Given the description of an element on the screen output the (x, y) to click on. 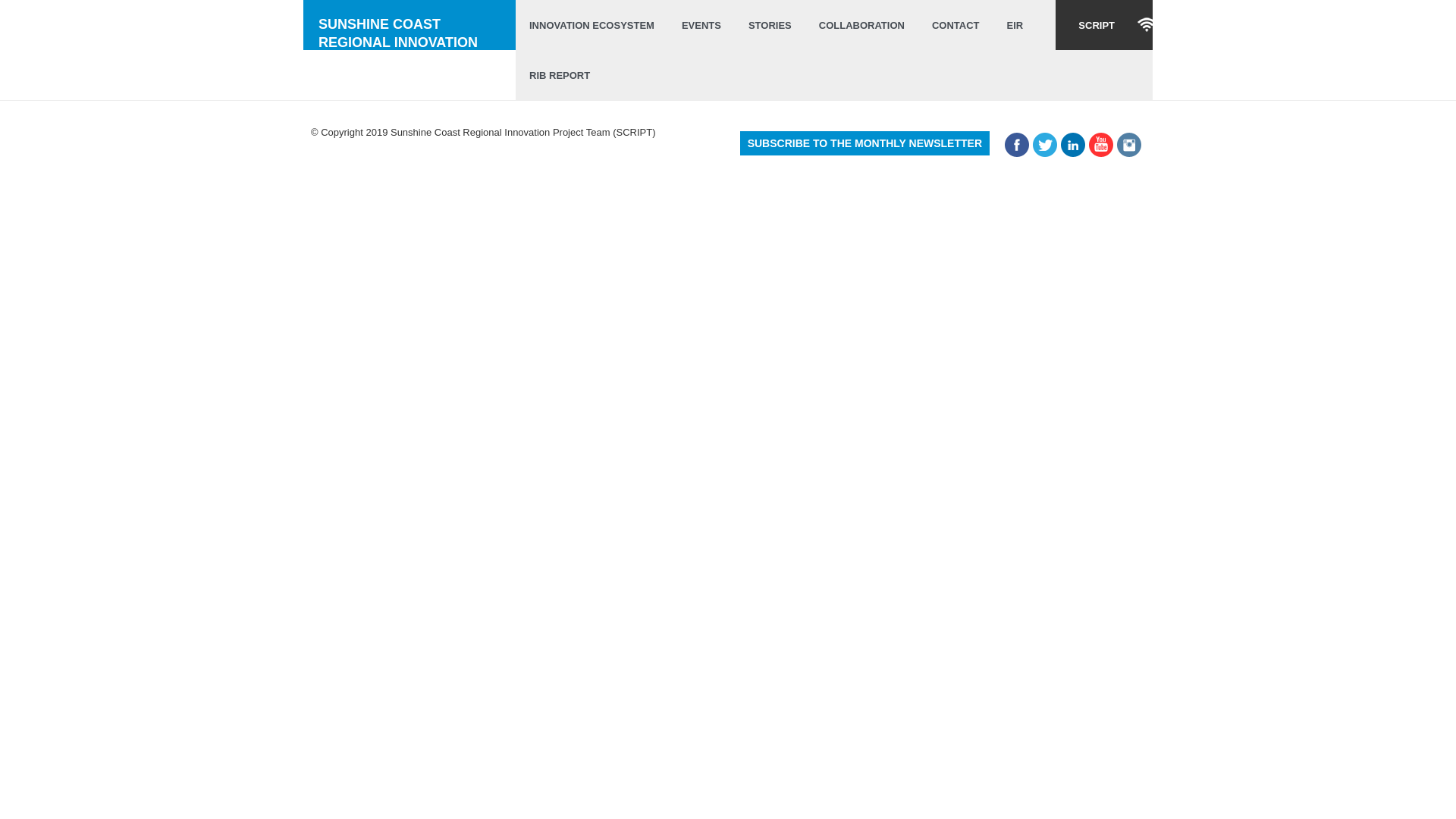
INNOVATION ECOSYSTEM Element type: text (591, 25)
COLLABORATION Element type: text (861, 25)
CONTACT Element type: text (955, 25)
EVENTS Element type: text (701, 25)
STORIES Element type: text (769, 25)
RIB REPORT Element type: text (559, 75)
EIR Element type: text (1015, 25)
SUNSHINE COAST REGIONAL INNOVATION PROJECT TEAM Element type: text (409, 25)
SCRIPT Element type: text (1103, 25)
SUBSCRIBE TO THE MONTHLY NEWSLETTER Element type: text (864, 143)
